Given the description of an element on the screen output the (x, y) to click on. 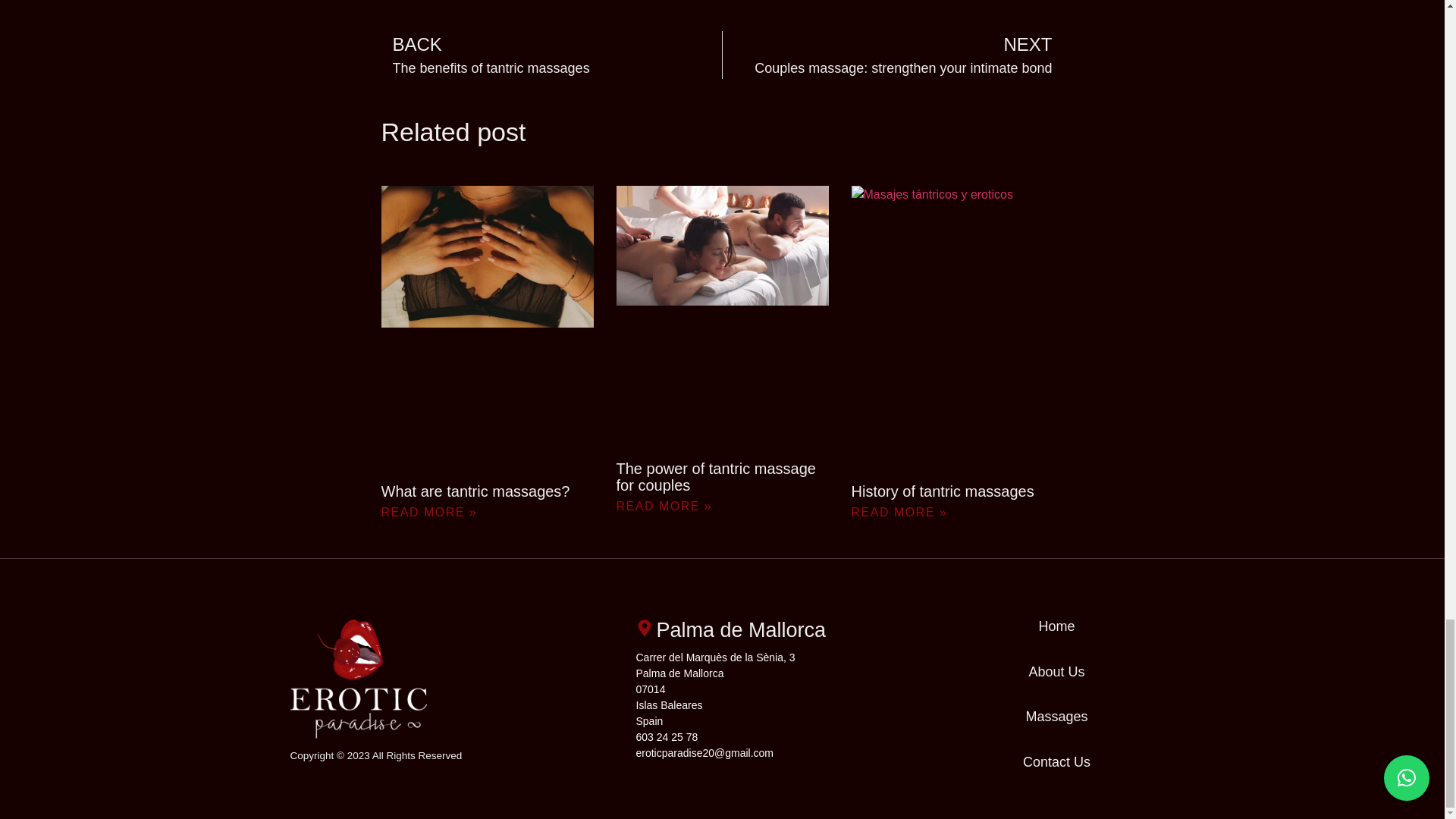
The power of tantric massage for couples (715, 476)
What are tantric massages? (474, 491)
